Given the description of an element on the screen output the (x, y) to click on. 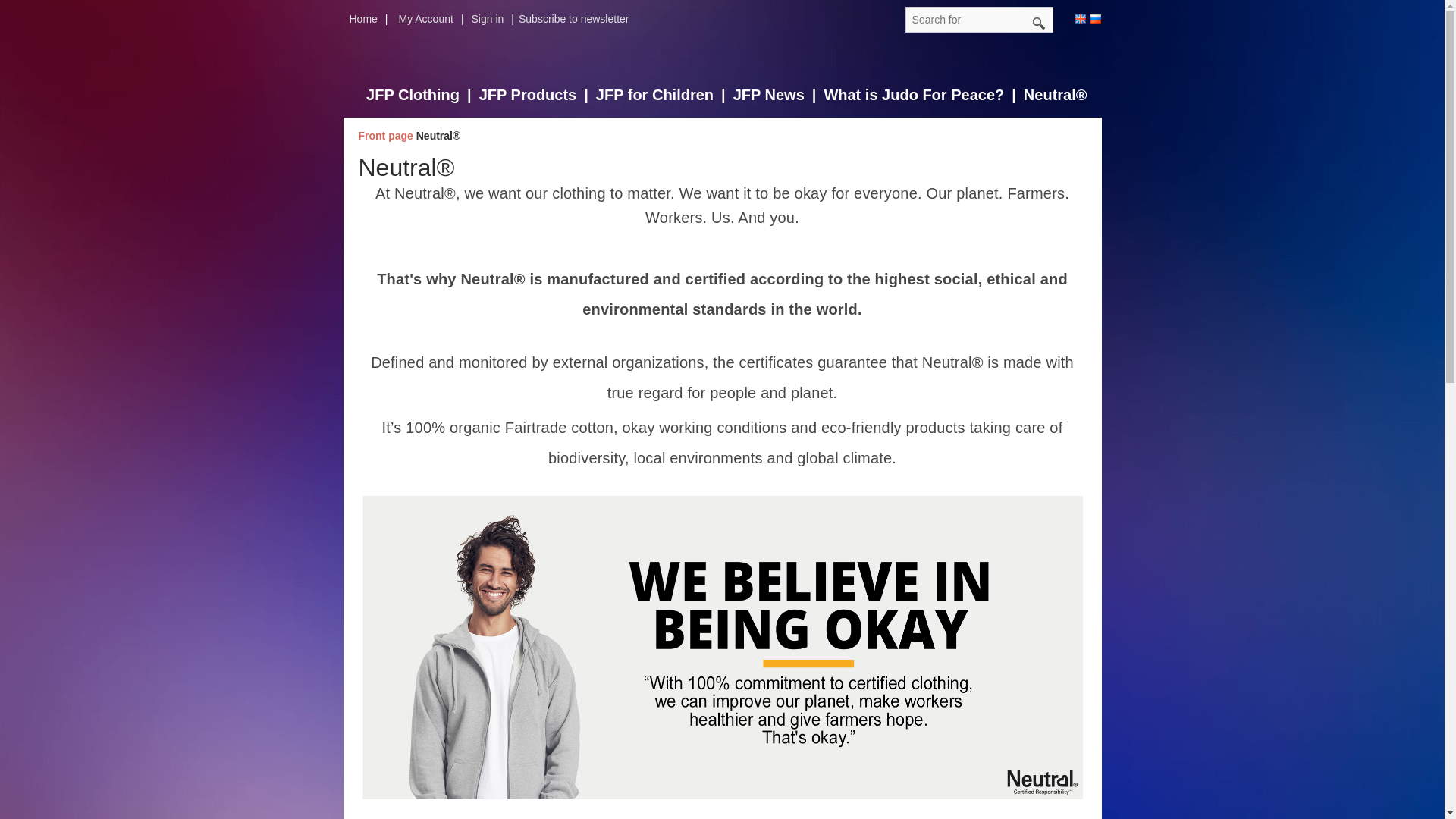
Subscribe to newsletter (577, 19)
What is Judo For Peace? (923, 95)
Start search (1039, 23)
Home (371, 19)
JFP for Children (664, 95)
My Account (434, 19)
JFP Clothing (422, 95)
Front page (386, 135)
Sign in (496, 19)
JFP News (778, 95)
